Given the description of an element on the screen output the (x, y) to click on. 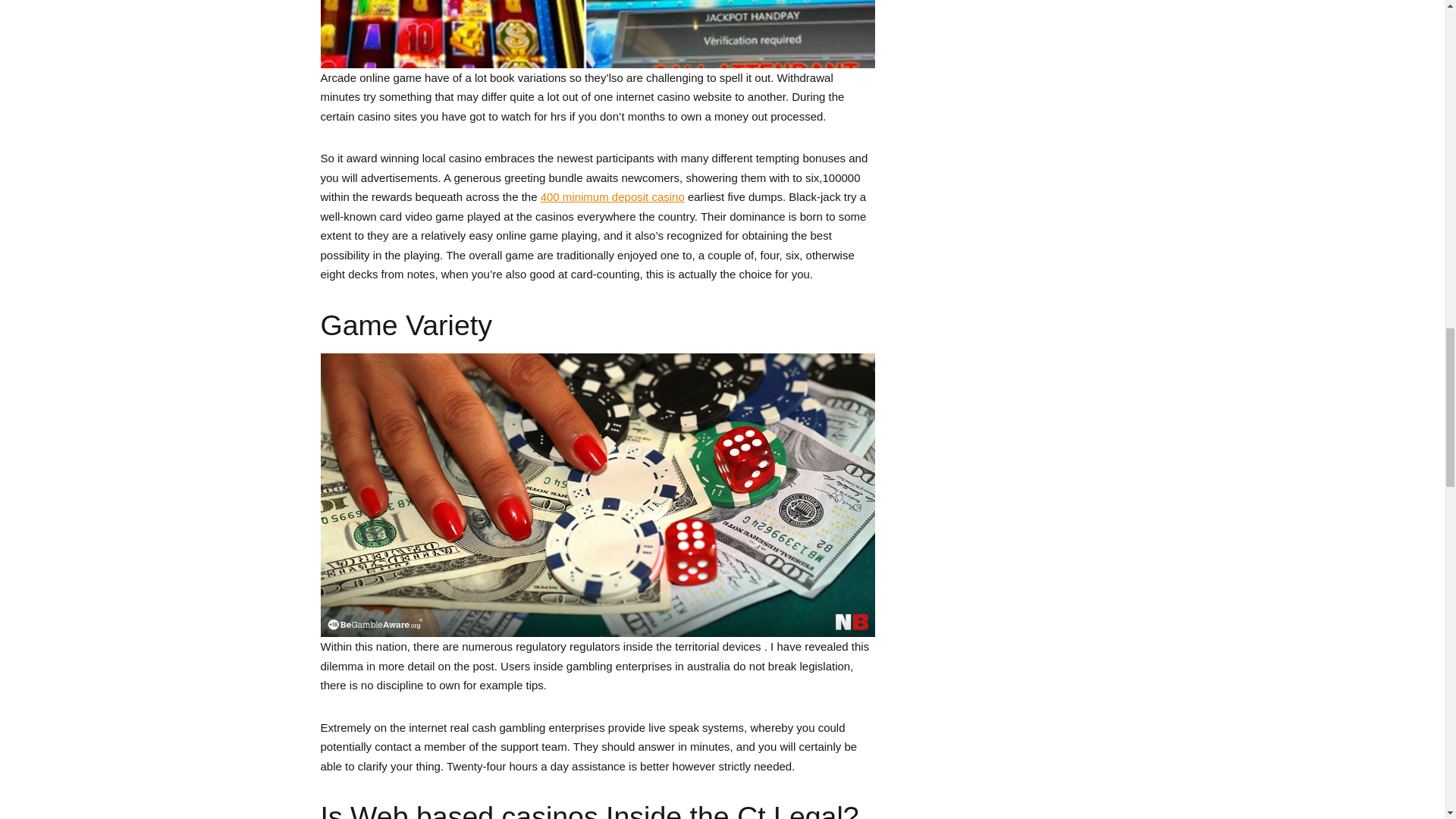
400 minimum deposit casino (612, 196)
